Given the description of an element on the screen output the (x, y) to click on. 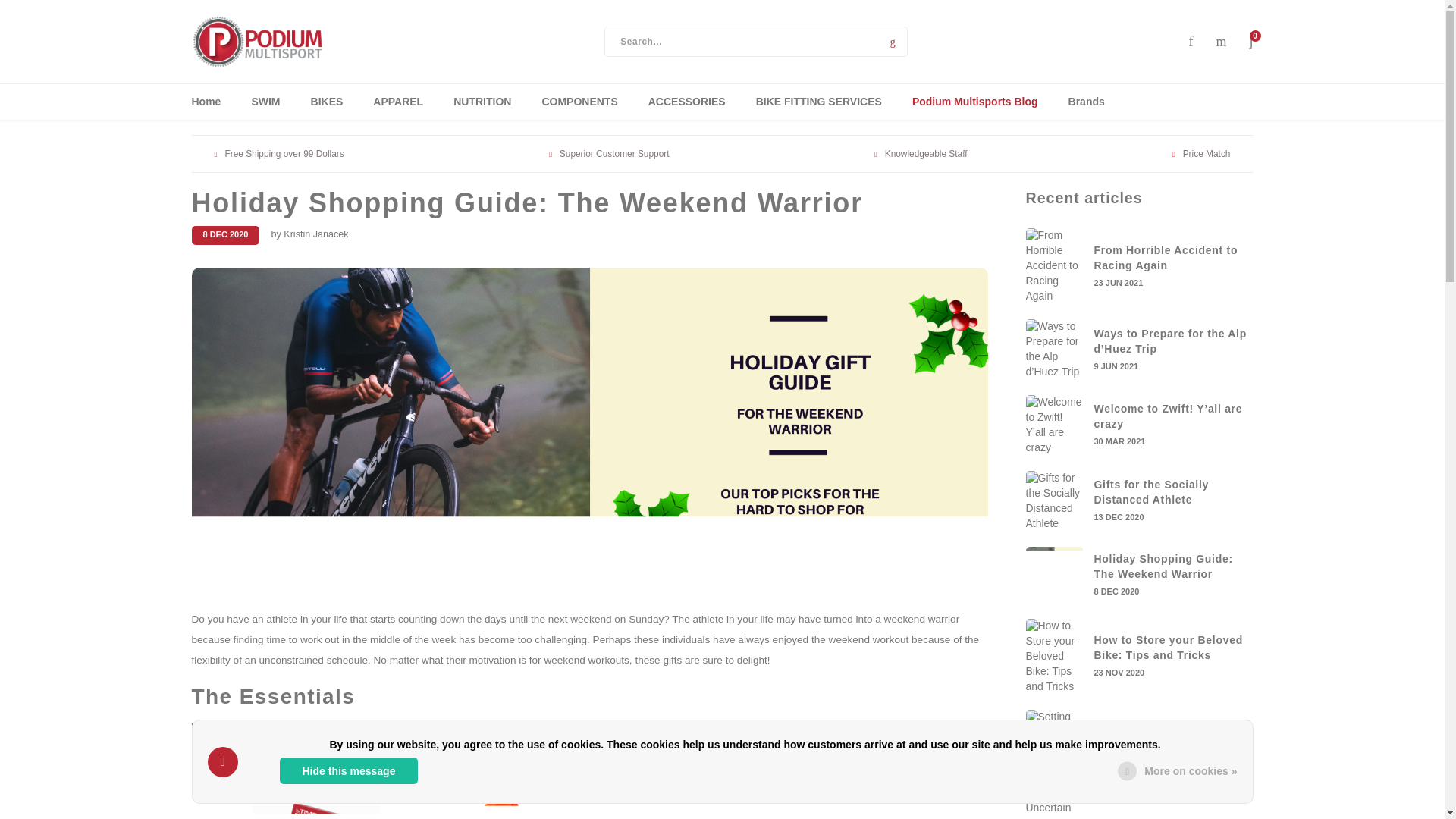
Search (892, 41)
